Given the description of an element on the screen output the (x, y) to click on. 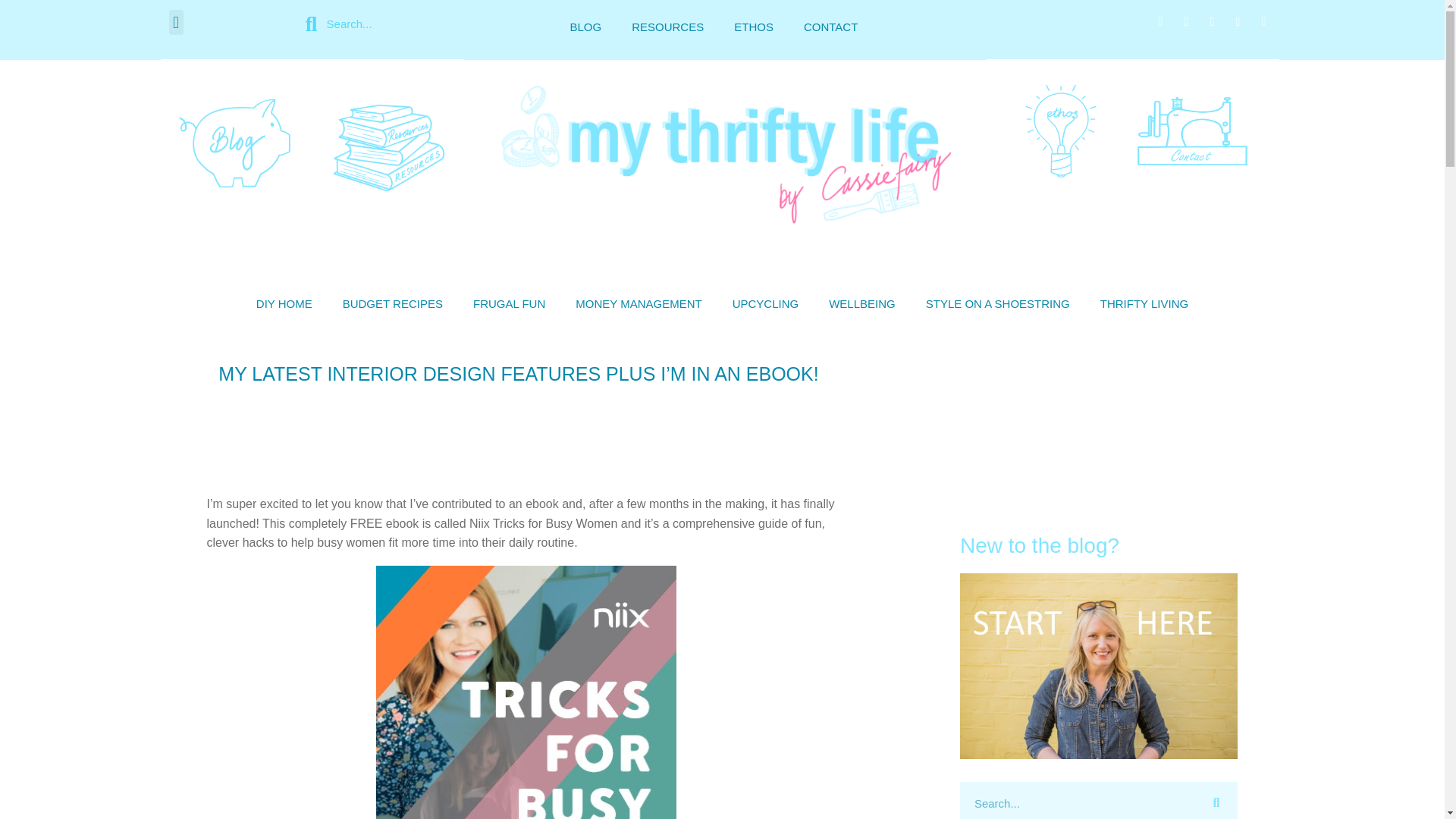
RESOURCES (667, 27)
CONTACT (830, 27)
BLOG (585, 27)
ETHOS (754, 27)
